Given the description of an element on the screen output the (x, y) to click on. 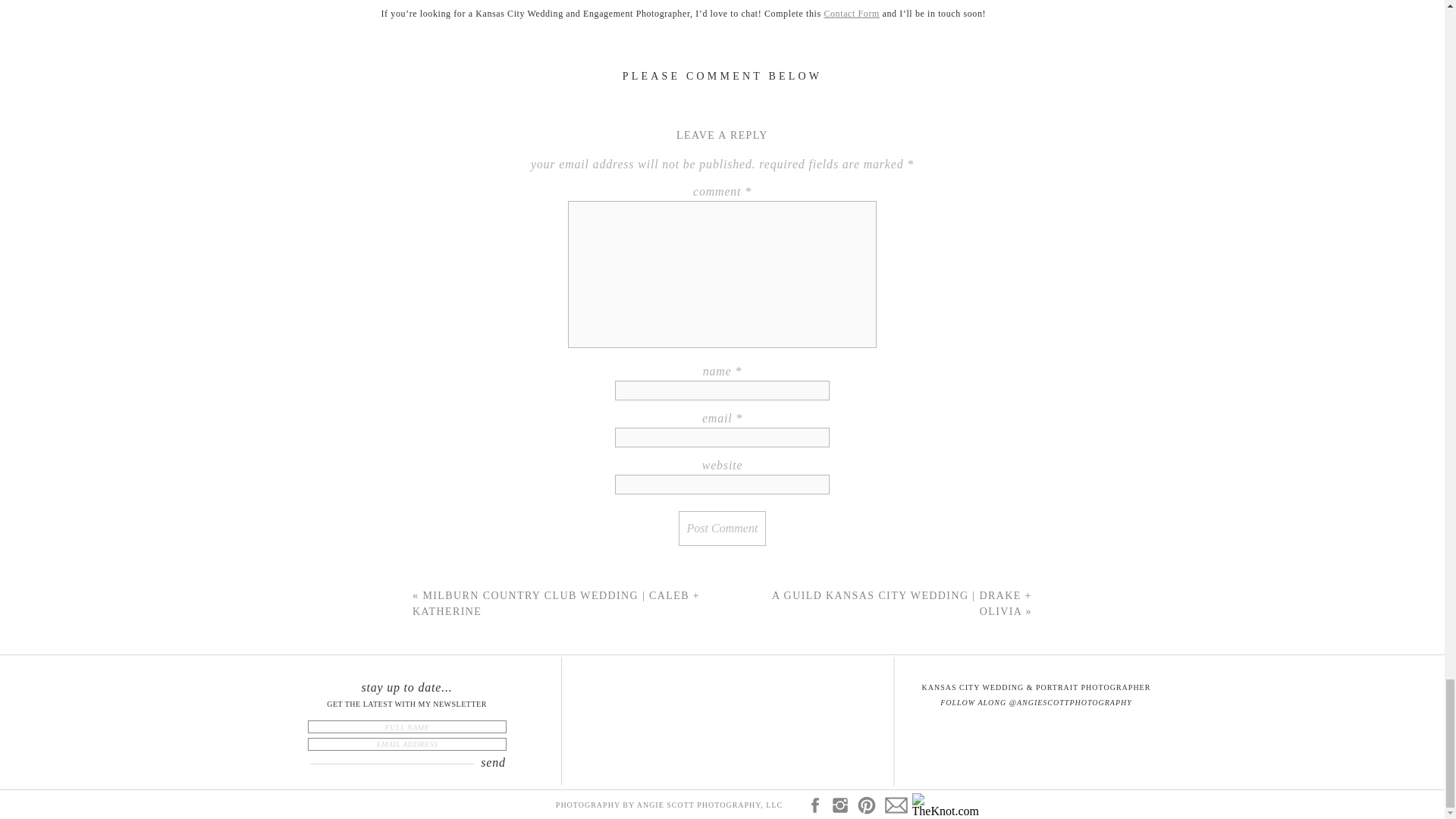
send (493, 763)
Contact Form (851, 13)
PHOTOGRAPHY BY ANGIE SCOTT PHOTOGRAPHY, LLC (669, 806)
PLEASE COMMENT BELOW (722, 75)
Post Comment (722, 528)
Post Comment (722, 528)
